Given the description of an element on the screen output the (x, y) to click on. 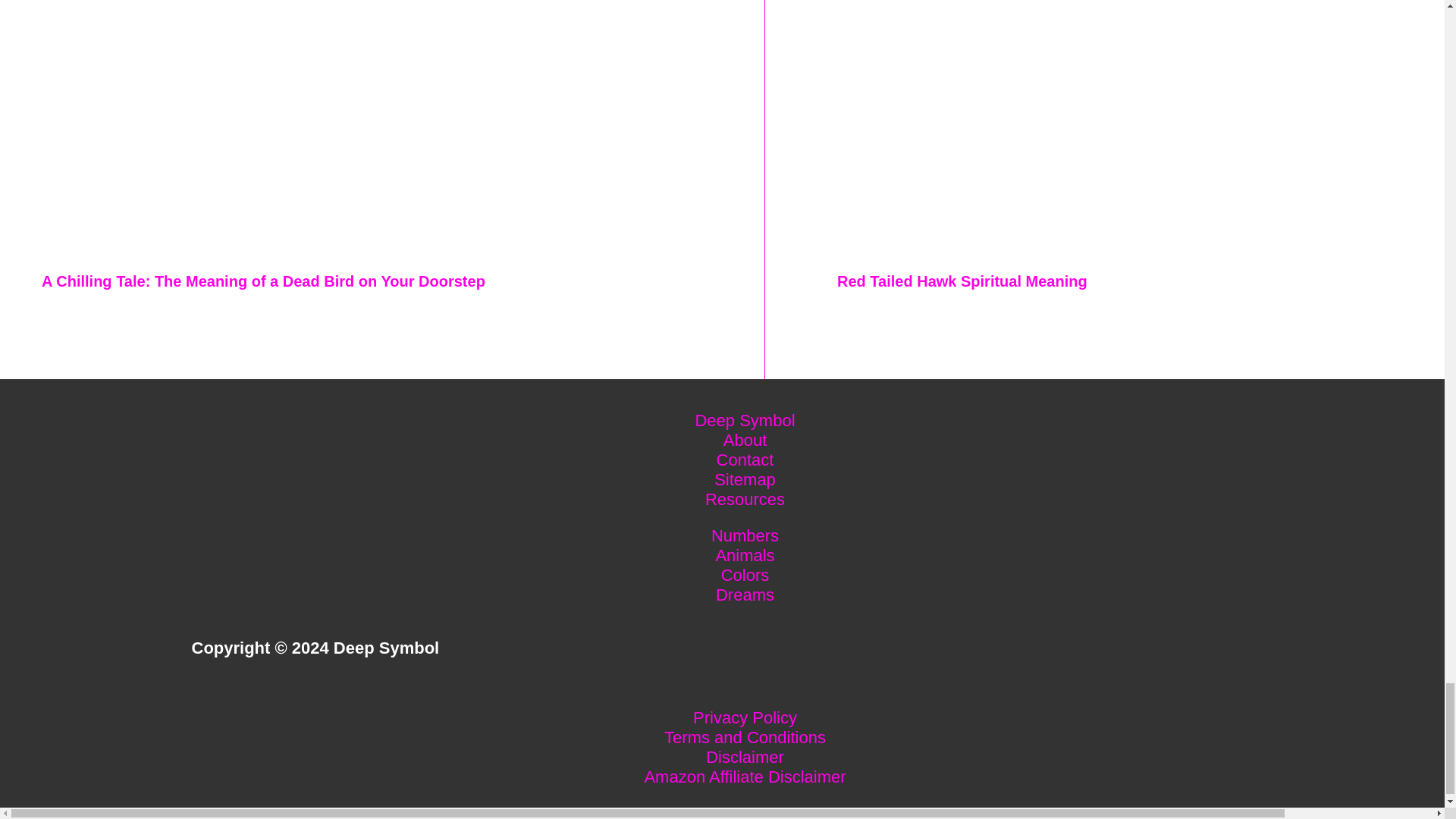
Red Tailed Hawk Spiritual Meaning (962, 280)
A Chilling Tale: The Meaning of a Dead Bird on Your Doorstep (263, 280)
